Given the description of an element on the screen output the (x, y) to click on. 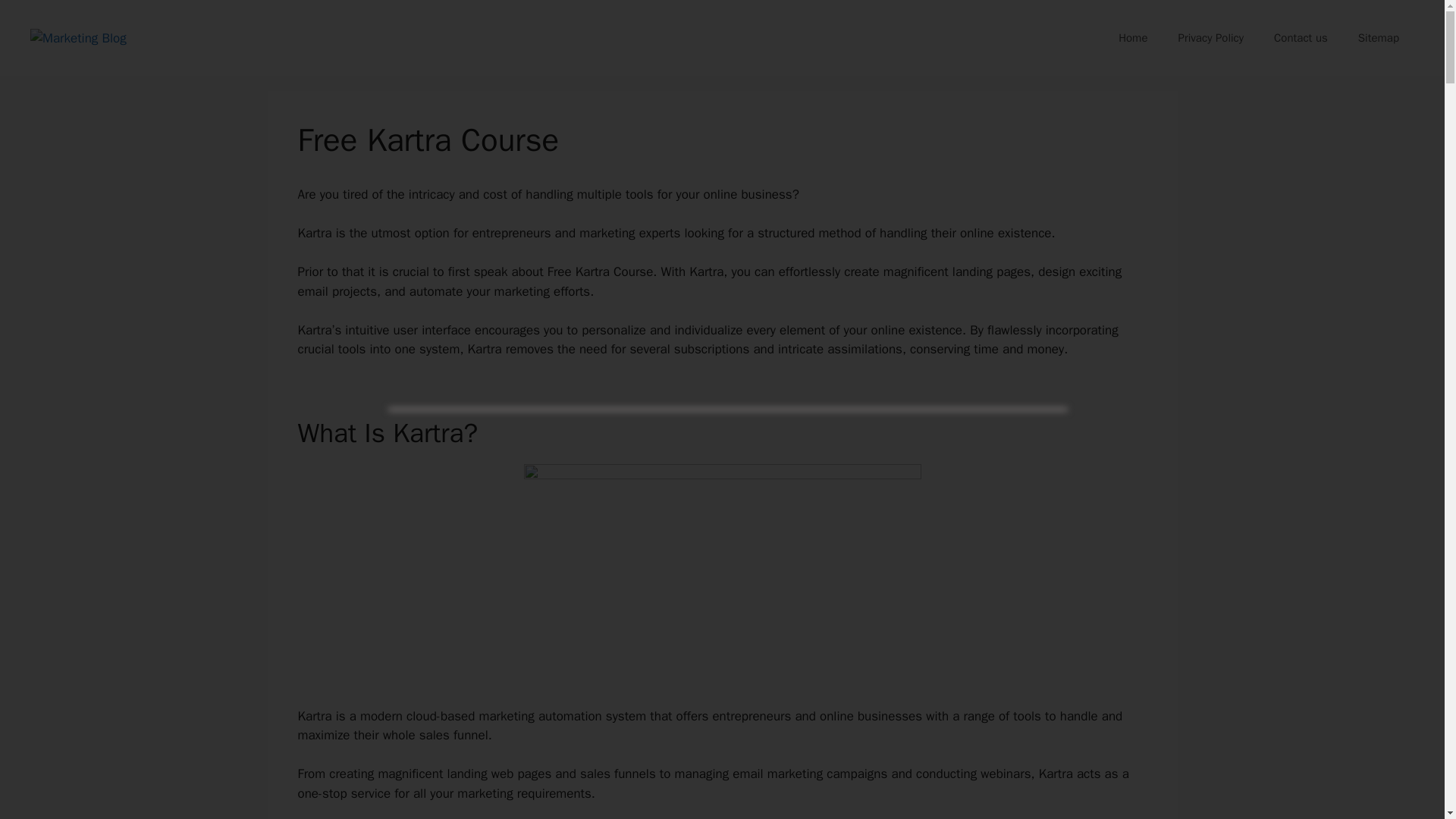
Privacy Policy (1210, 37)
Home (1132, 37)
Sitemap (1377, 37)
Contact us (1300, 37)
